Given the description of an element on the screen output the (x, y) to click on. 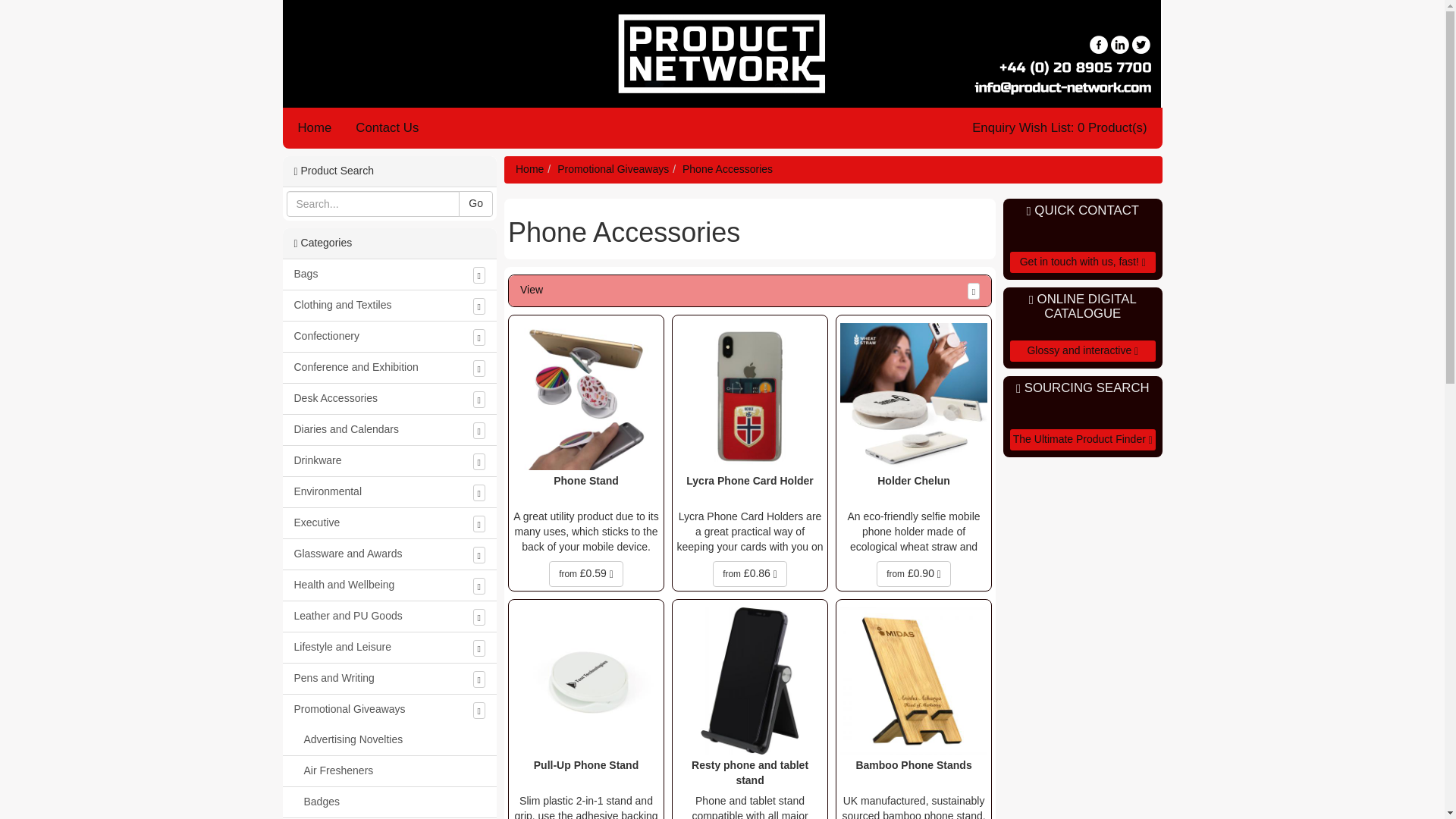
Resty phone and tablet stand (750, 774)
Phone Accessories (727, 168)
Phone Stand (585, 490)
Contact Us (386, 127)
Home (314, 127)
Pull-Up Phone Stand (585, 774)
Holder Chelun (913, 490)
Go (475, 203)
Home (529, 168)
Bamboo Phone Stands (913, 774)
Promotional Giveaways (612, 168)
Lycra Phone Card Holder (750, 490)
